Given the description of an element on the screen output the (x, y) to click on. 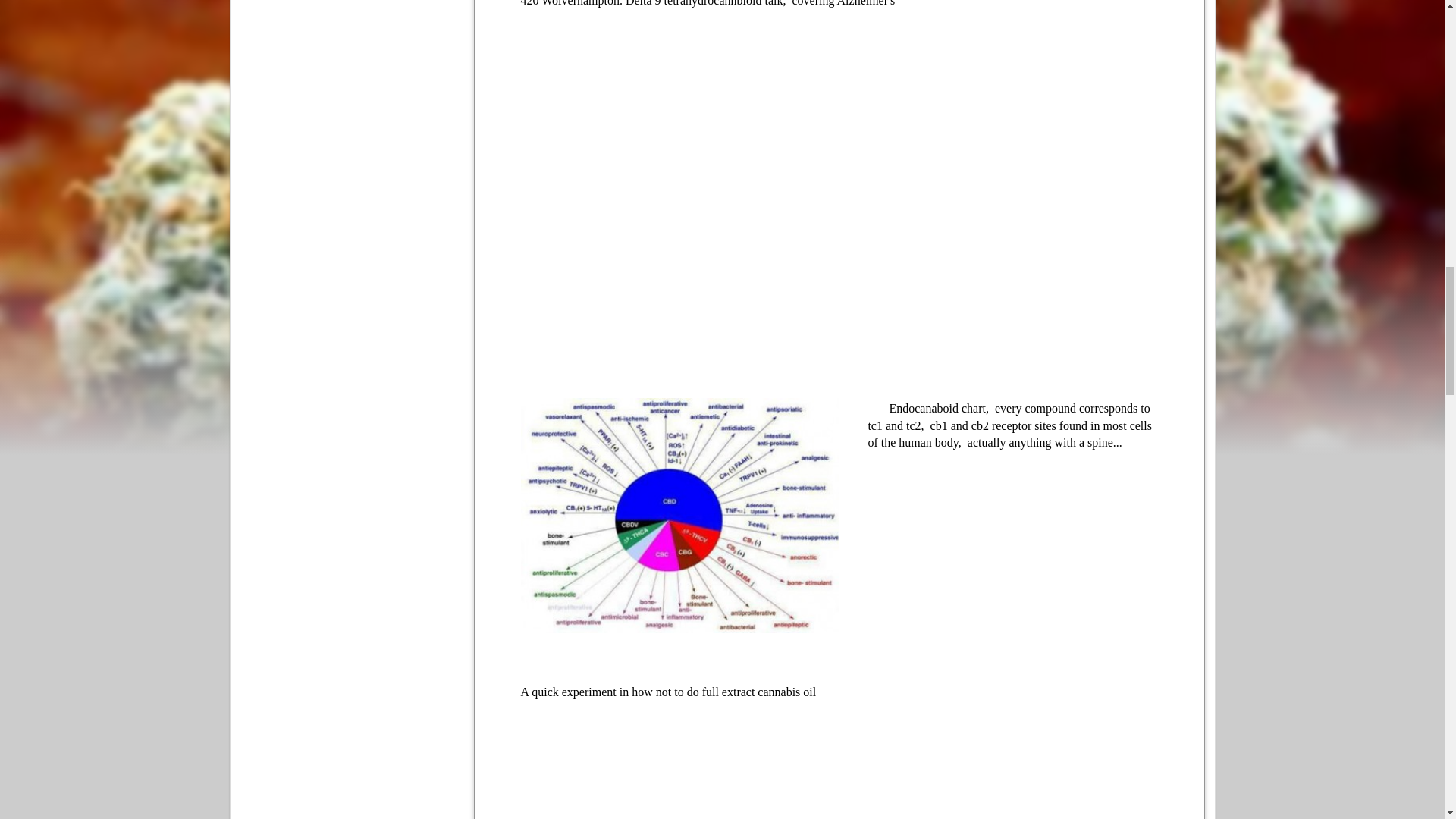
A quick exprement on how NOT to do Full Extract Cannabis Oil (839, 773)
